Given the description of an element on the screen output the (x, y) to click on. 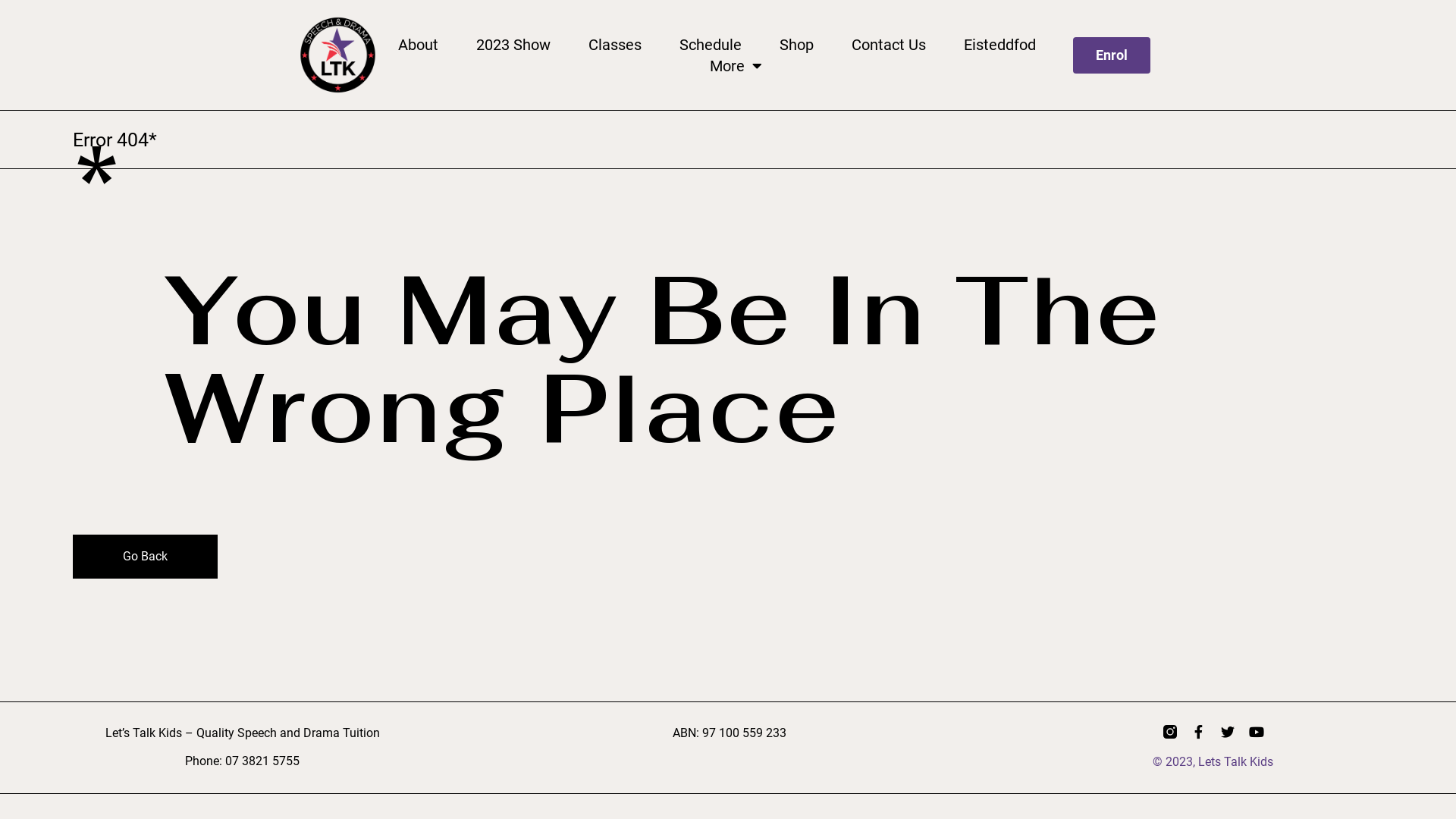
Shop Element type: text (796, 44)
Eisteddfod Element type: text (999, 44)
More Element type: text (735, 65)
About Element type: text (418, 44)
Schedule Element type: text (710, 44)
Go Back Element type: text (144, 556)
2023 Show Element type: text (513, 44)
Classes Element type: text (614, 44)
Contact Us Element type: text (888, 44)
Enrol Element type: text (1111, 55)
